Given the description of an element on the screen output the (x, y) to click on. 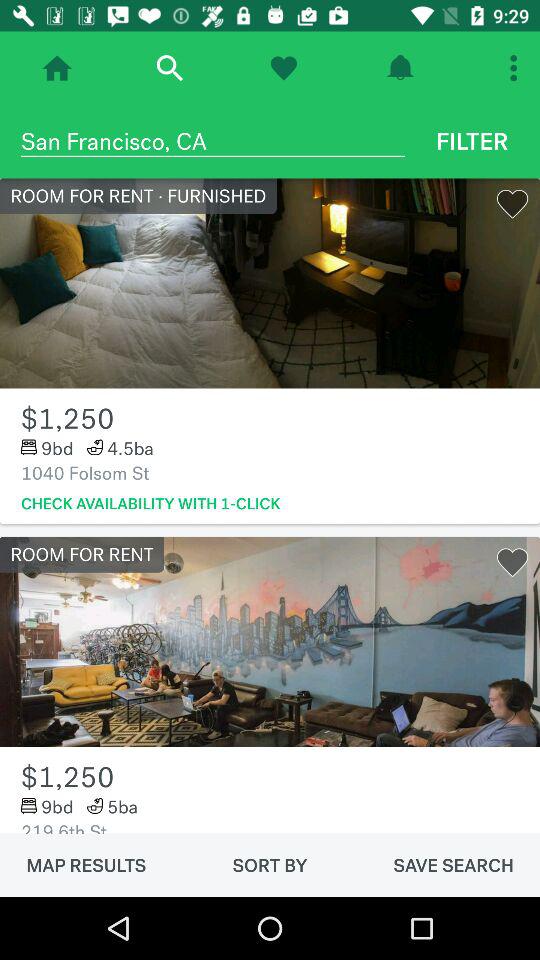
turn on alert (400, 68)
